Given the description of an element on the screen output the (x, y) to click on. 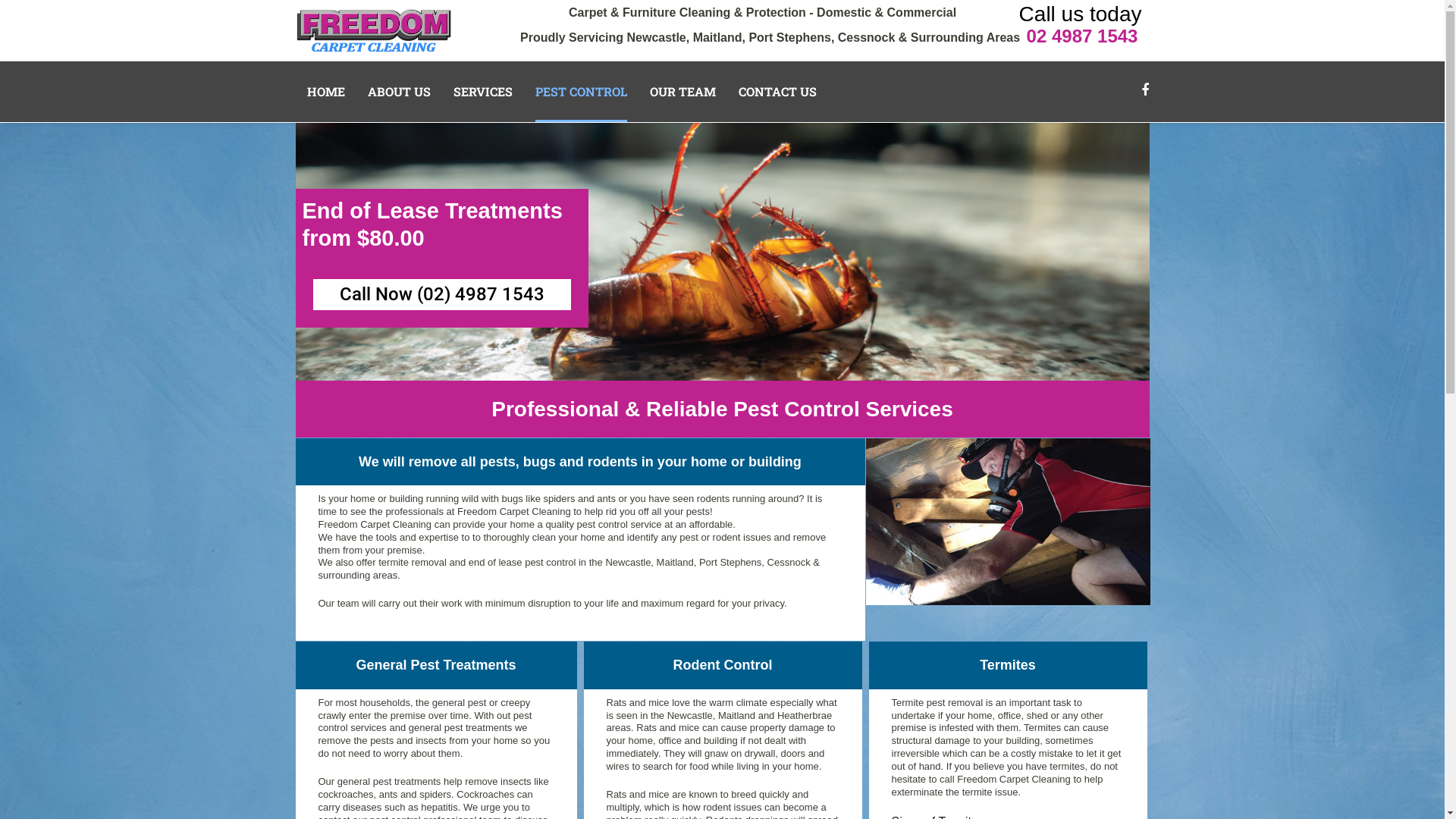
HOME Element type: text (325, 91)
02 4987 1543 Element type: text (1082, 35)
OUR TEAM Element type: text (682, 91)
SERVICES Element type: text (482, 91)
PEST CONTROL Element type: text (581, 91)
CONTACT US Element type: text (777, 91)
Call us today Element type: text (1080, 14)
ABOUT US Element type: text (398, 91)
